Given the description of an element on the screen output the (x, y) to click on. 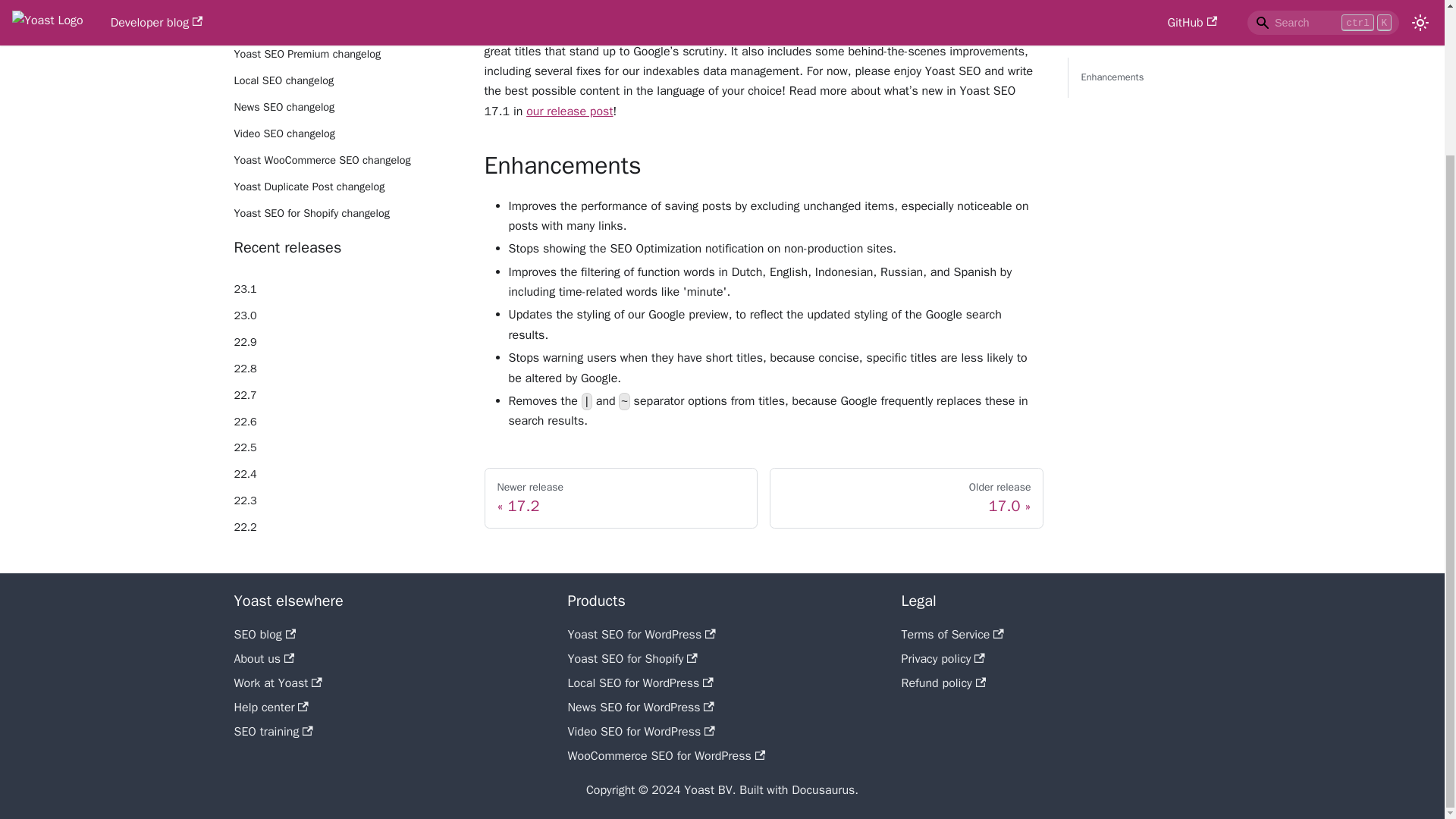
Yoast SEO changelog (346, 27)
Video SEO changelog (346, 134)
23.1 (346, 289)
Local SEO for WordPress (640, 683)
Help center (269, 707)
About us (263, 658)
22.9 (346, 342)
SEO training (272, 731)
22.7 (346, 395)
Yoast WooCommerce SEO changelog (346, 160)
23.0 (346, 316)
22.3 (346, 501)
Yoast SEO for Shopify changelog (346, 213)
Yoast SEO for WordPress (640, 634)
22.2 (346, 527)
